Given the description of an element on the screen output the (x, y) to click on. 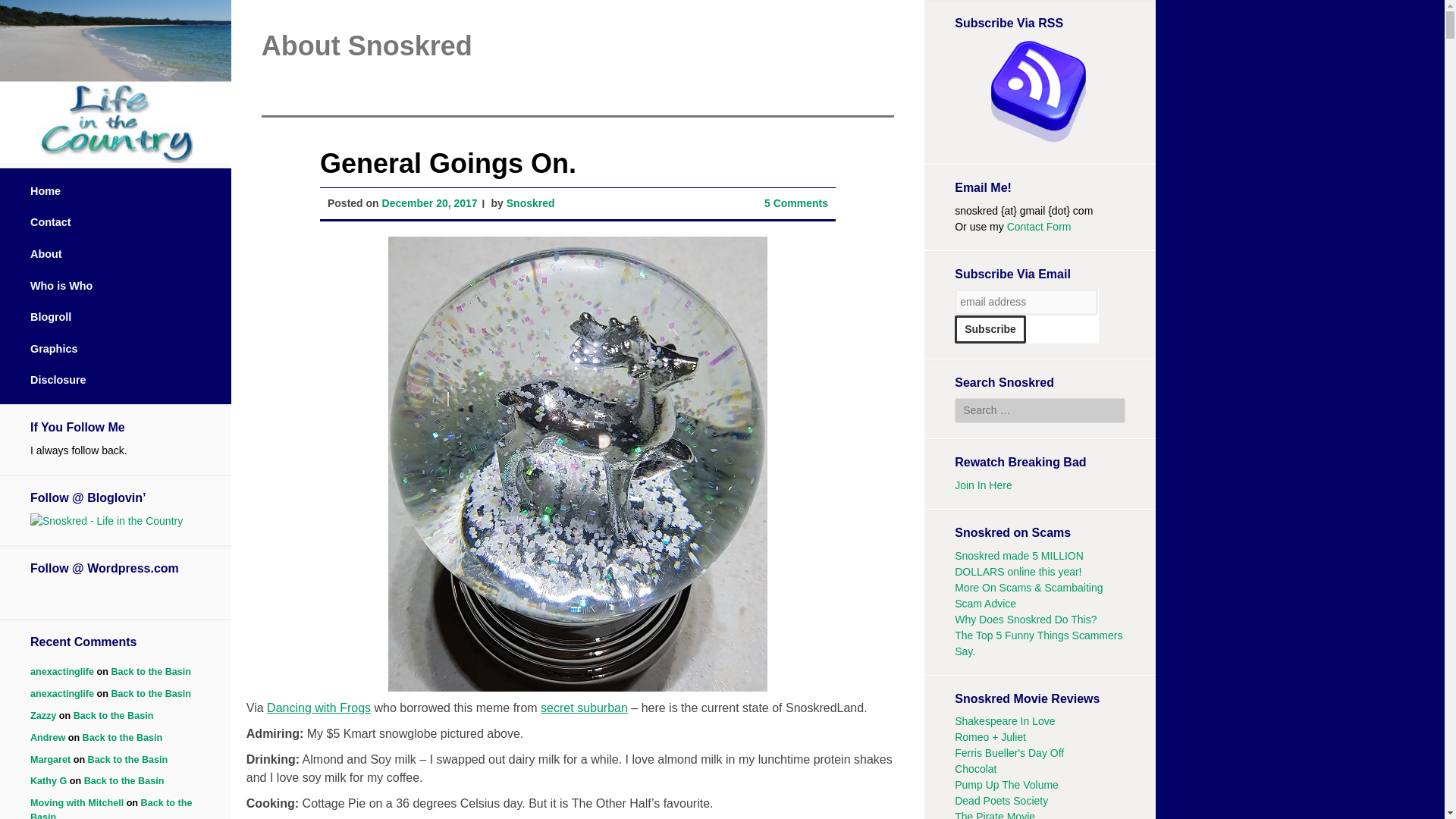
Subscribe (990, 329)
